Given the description of an element on the screen output the (x, y) to click on. 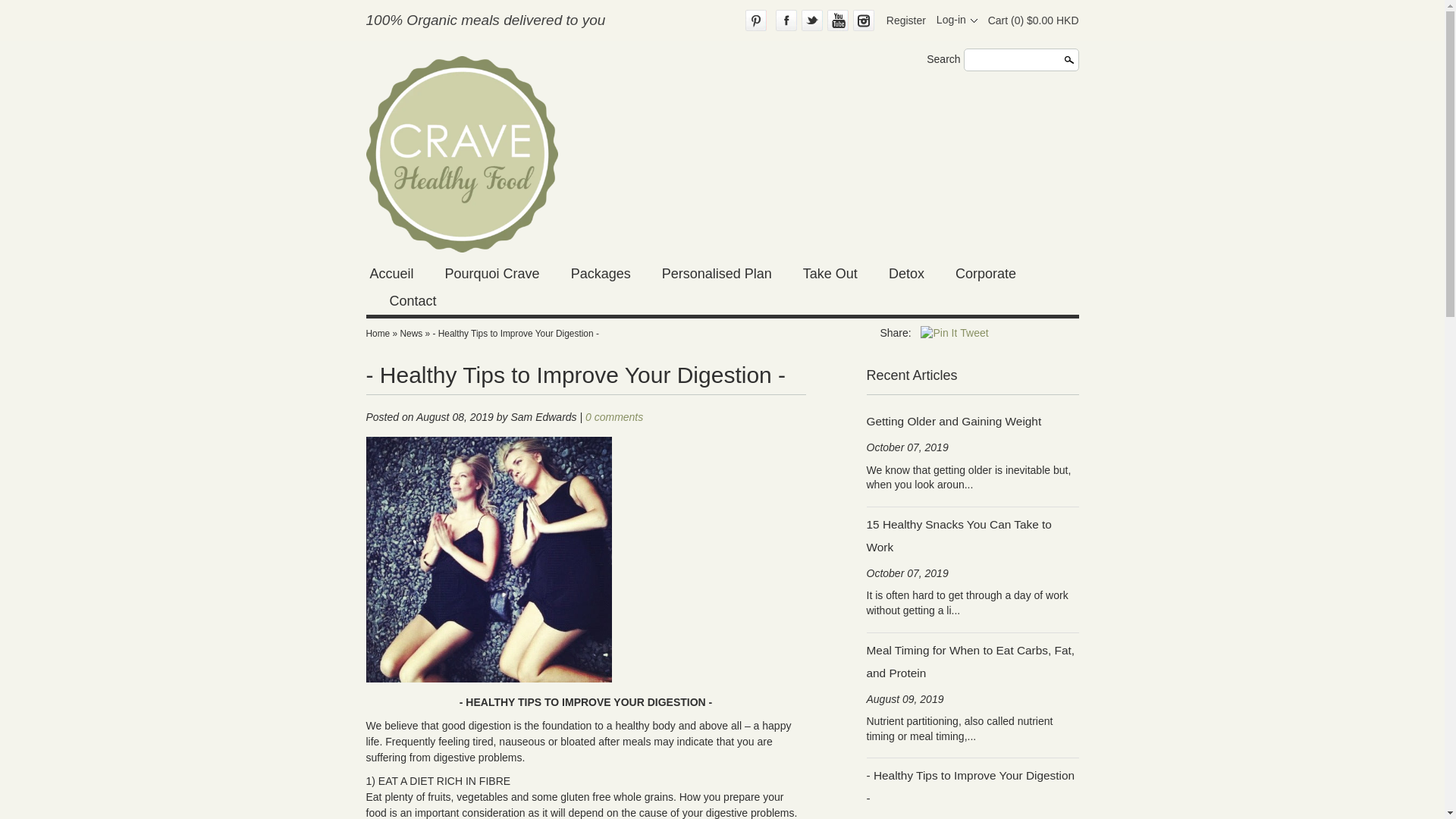
Pinterest (756, 20)
News (410, 333)
15 Healthy Snacks You Can Take to Work (972, 535)
YouTube (837, 20)
Tweet (973, 332)
Home (377, 333)
Follow us on Pinterest (756, 20)
Follow us on Instagram (864, 20)
- Healthy Tips to Improve Your Digestion - (972, 786)
Twitter (812, 20)
Take Out (830, 273)
Log-in (956, 19)
Contact (412, 300)
Follow us on Twitter (812, 20)
- Healthy Tips to Improve Your Digestion - (515, 333)
